Given the description of an element on the screen output the (x, y) to click on. 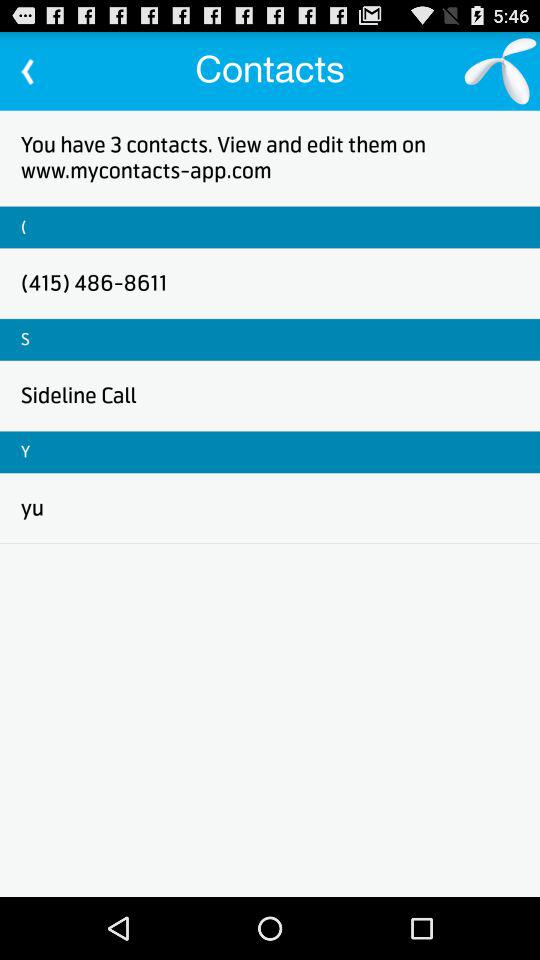
press you have 3 item (270, 157)
